Given the description of an element on the screen output the (x, y) to click on. 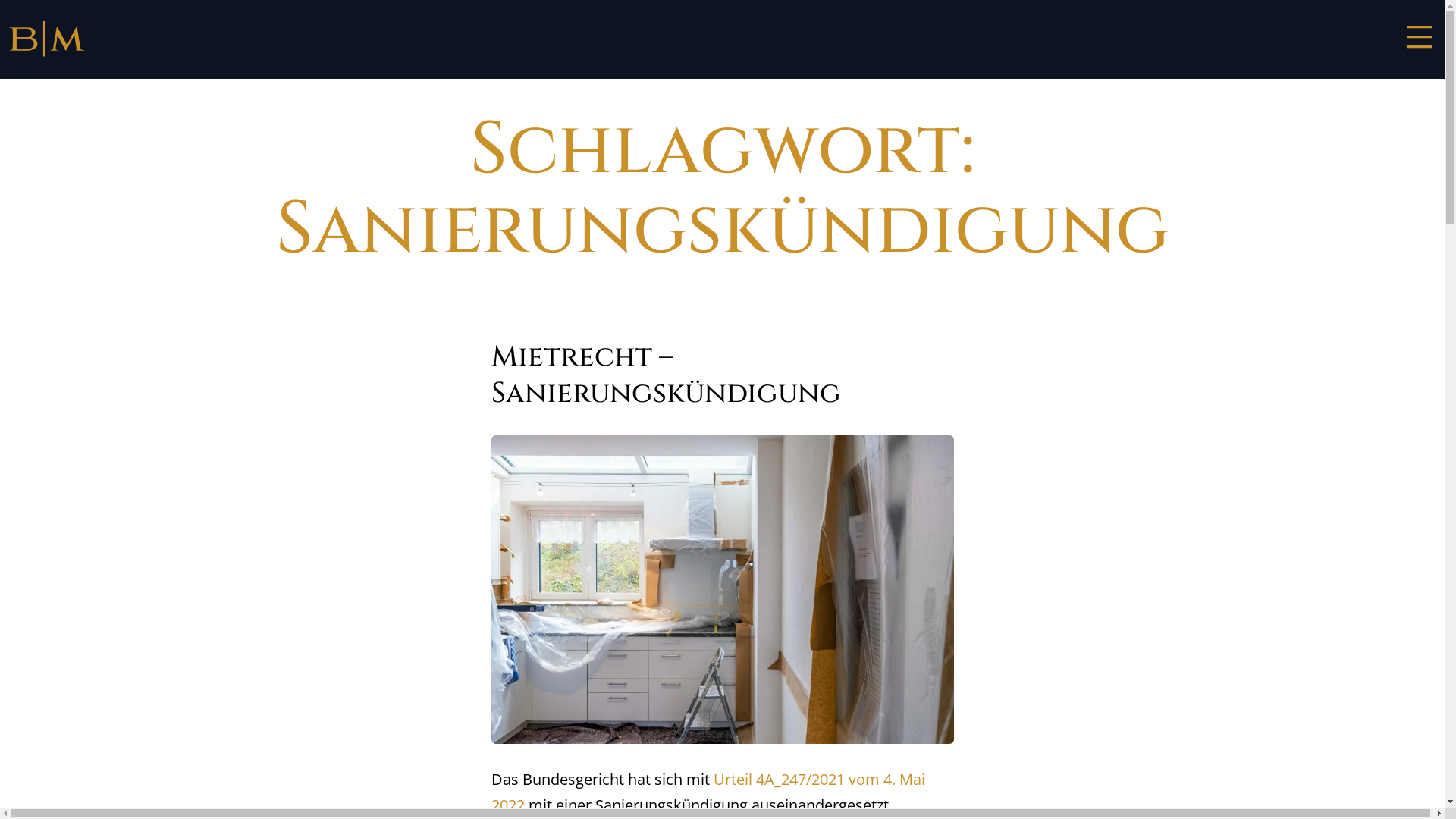
Urteil 4A_247/2021 vom 4. Mai 2022 Element type: text (708, 791)
